Given the description of an element on the screen output the (x, y) to click on. 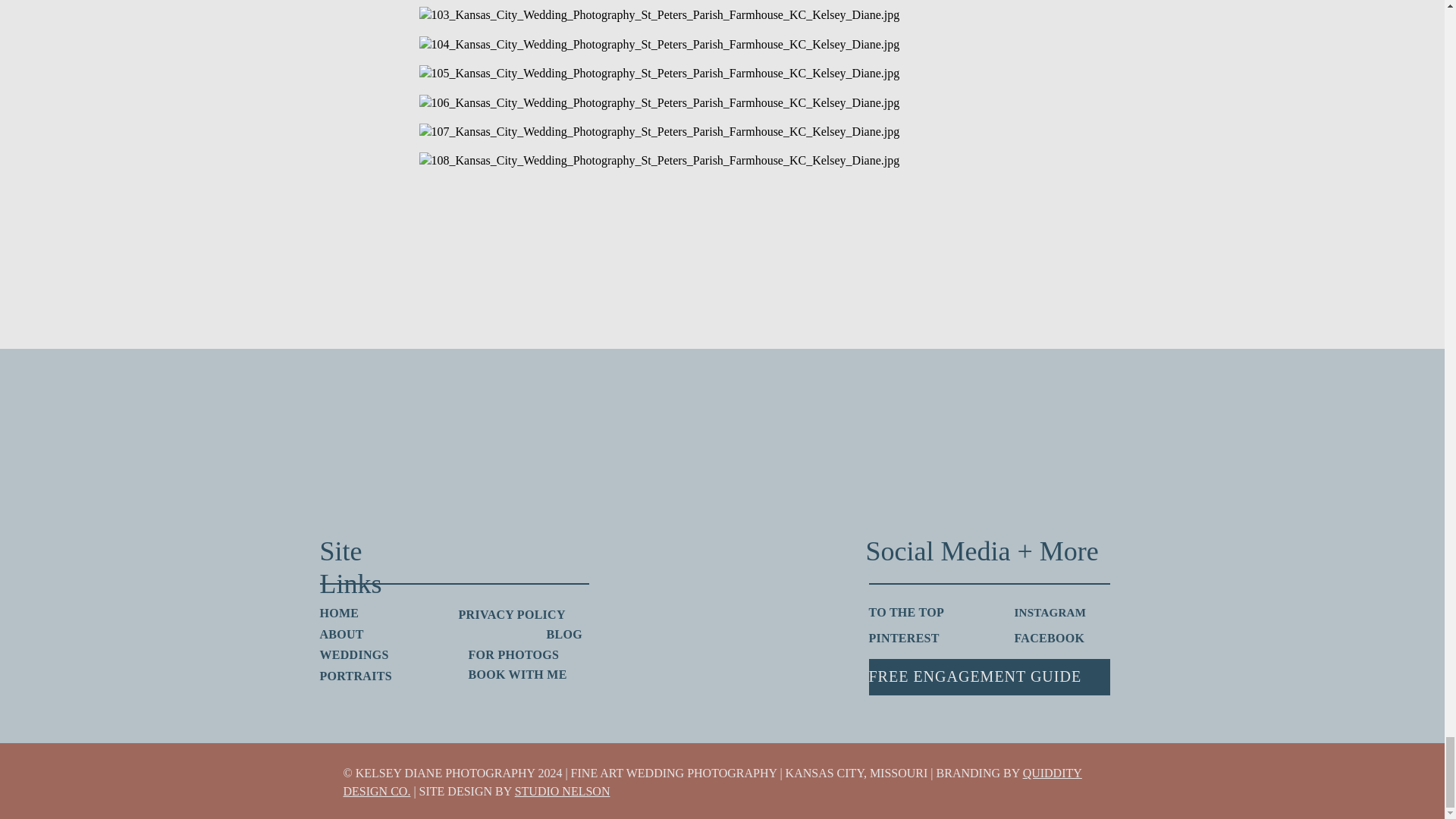
TO THE TOP (916, 612)
FOR PHOTOGS (528, 655)
KELS1011 (852, 431)
QUIDDITY DESIGN CO. (711, 781)
Reinholz-853 (68, 431)
HOME (344, 613)
FACEBOOK (1061, 638)
FREE ENGAGEMENT GUIDE (989, 677)
Quiason-518 (1114, 431)
INSTAGRAM (1061, 613)
